Given the description of an element on the screen output the (x, y) to click on. 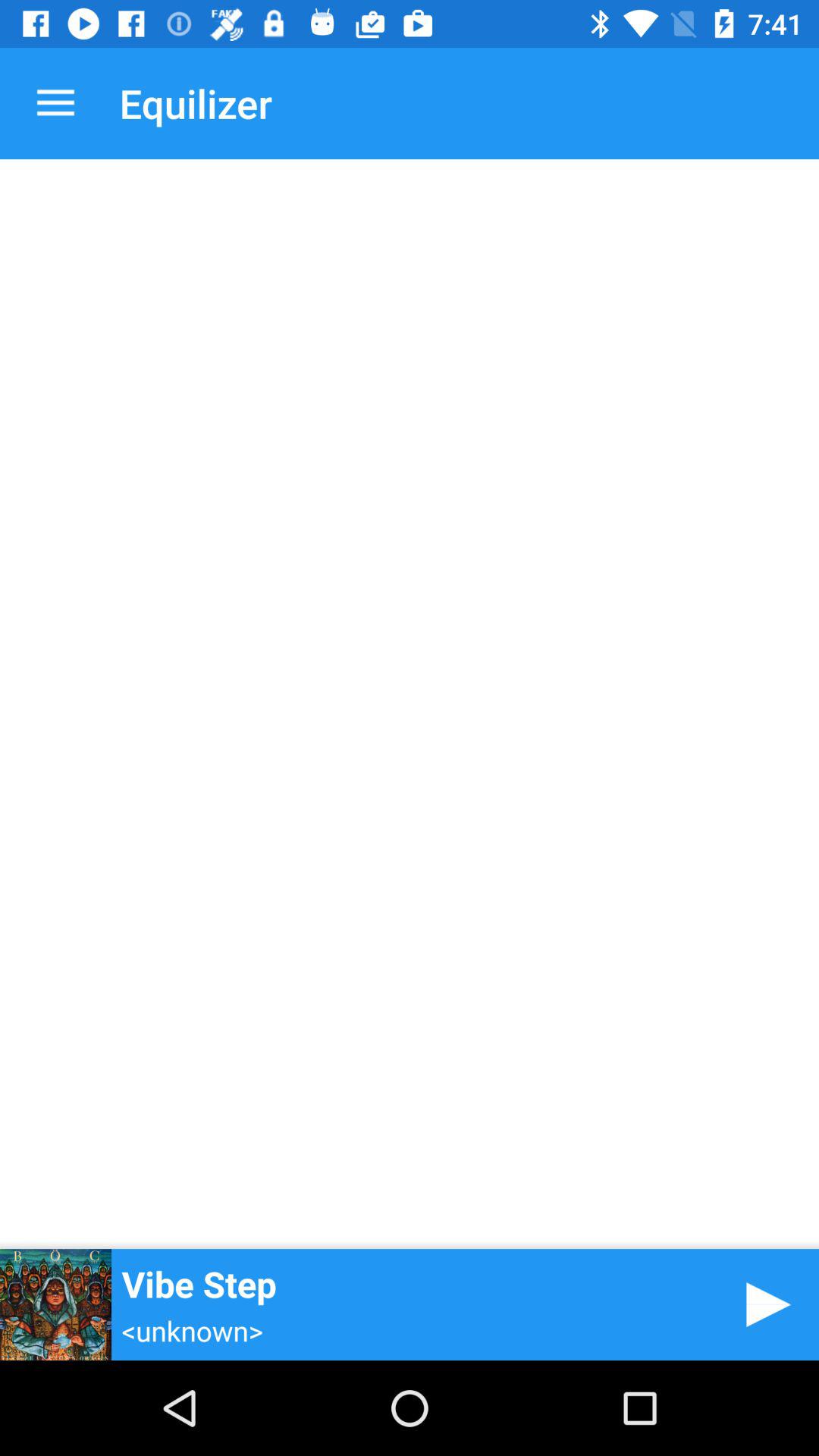
play video (763, 1304)
